Given the description of an element on the screen output the (x, y) to click on. 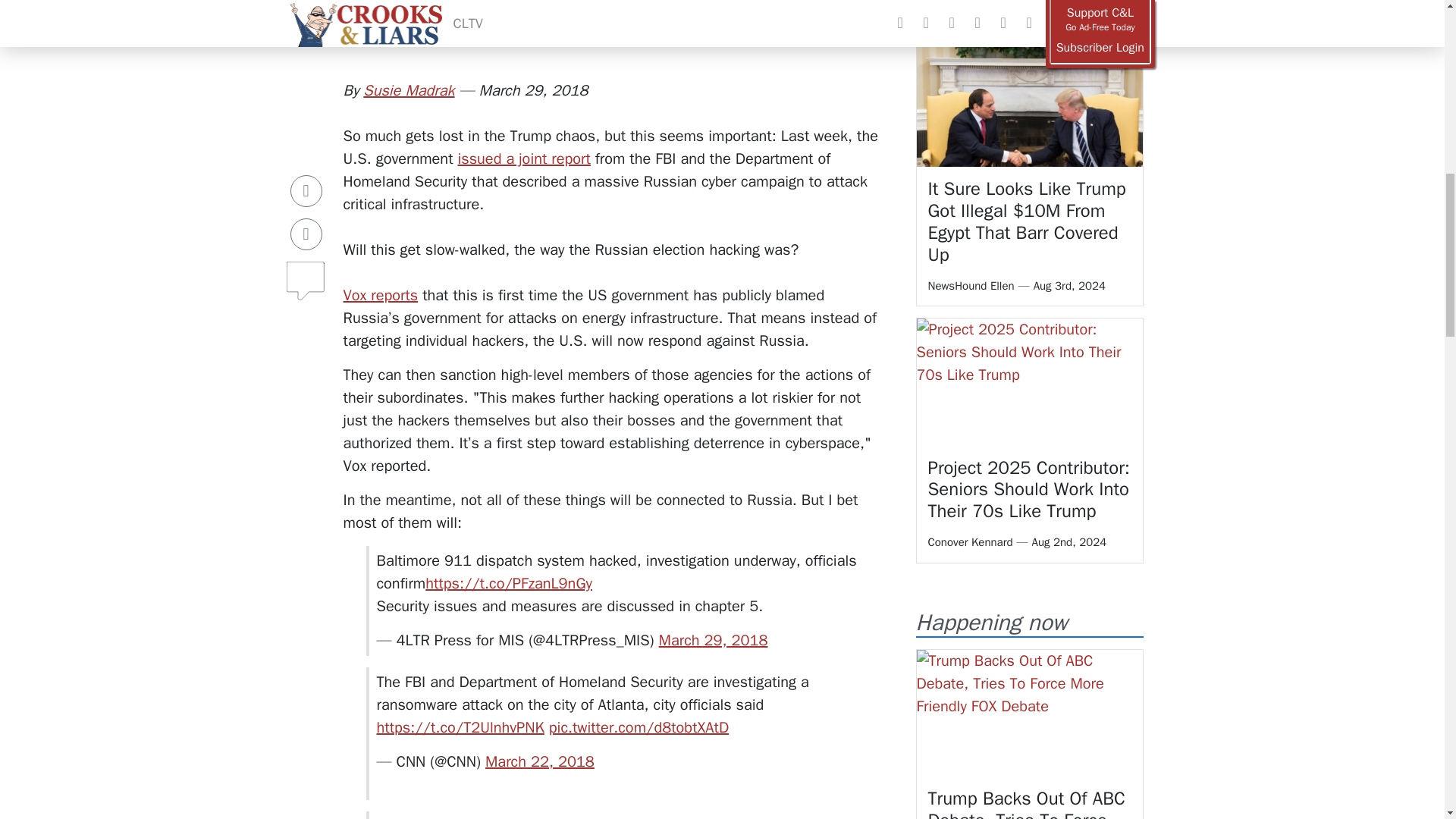
Vox reports (379, 294)
issued a joint report (524, 158)
Comments (306, 202)
Susie Madrak (408, 90)
March 29, 2018 (713, 640)
Susie Madrak (408, 90)
Share on Twitter (306, 161)
March 22, 2018 (539, 761)
Share on Facebook (306, 118)
